Given the description of an element on the screen output the (x, y) to click on. 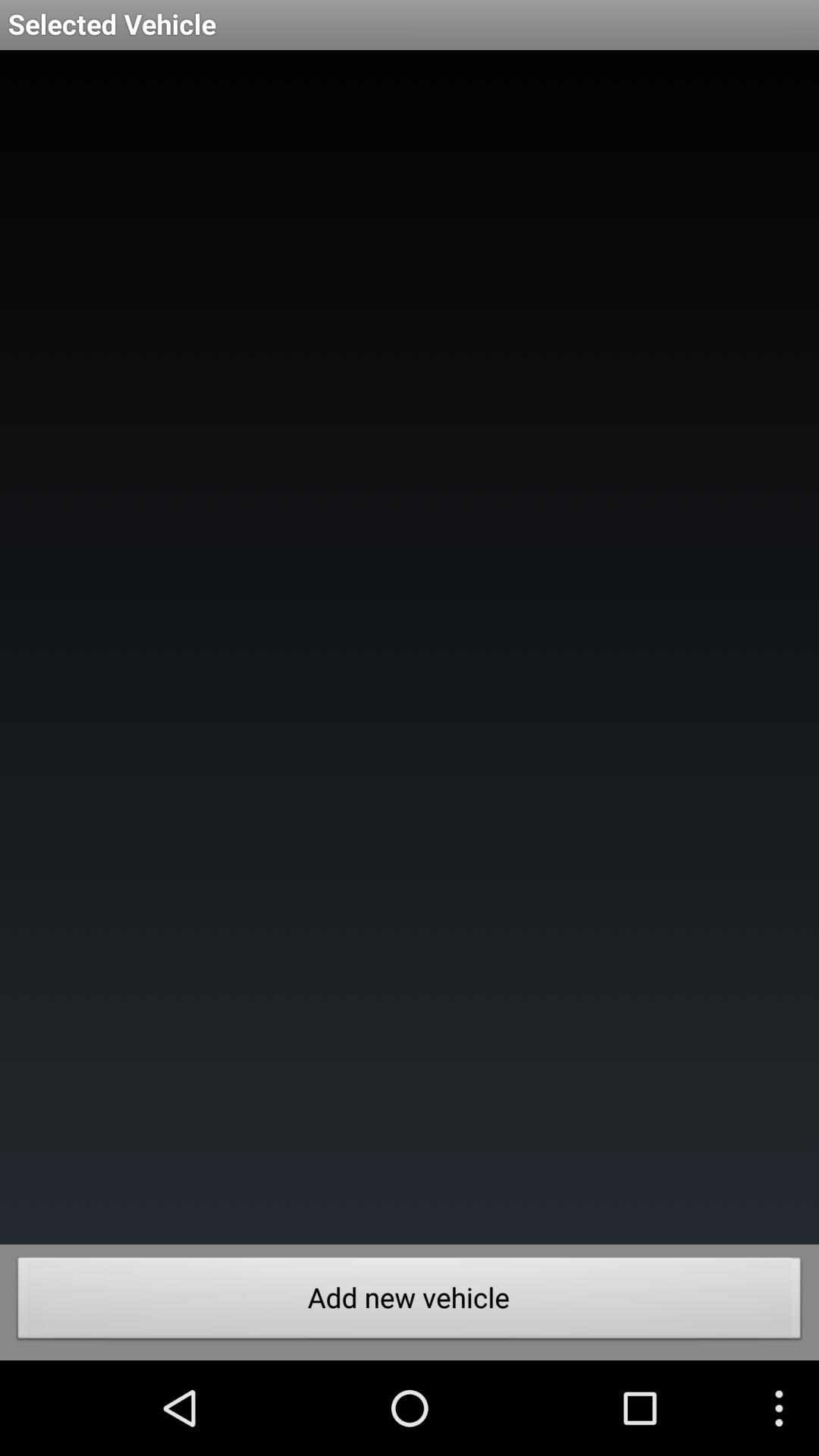
open add new vehicle at the bottom (409, 1302)
